Given the description of an element on the screen output the (x, y) to click on. 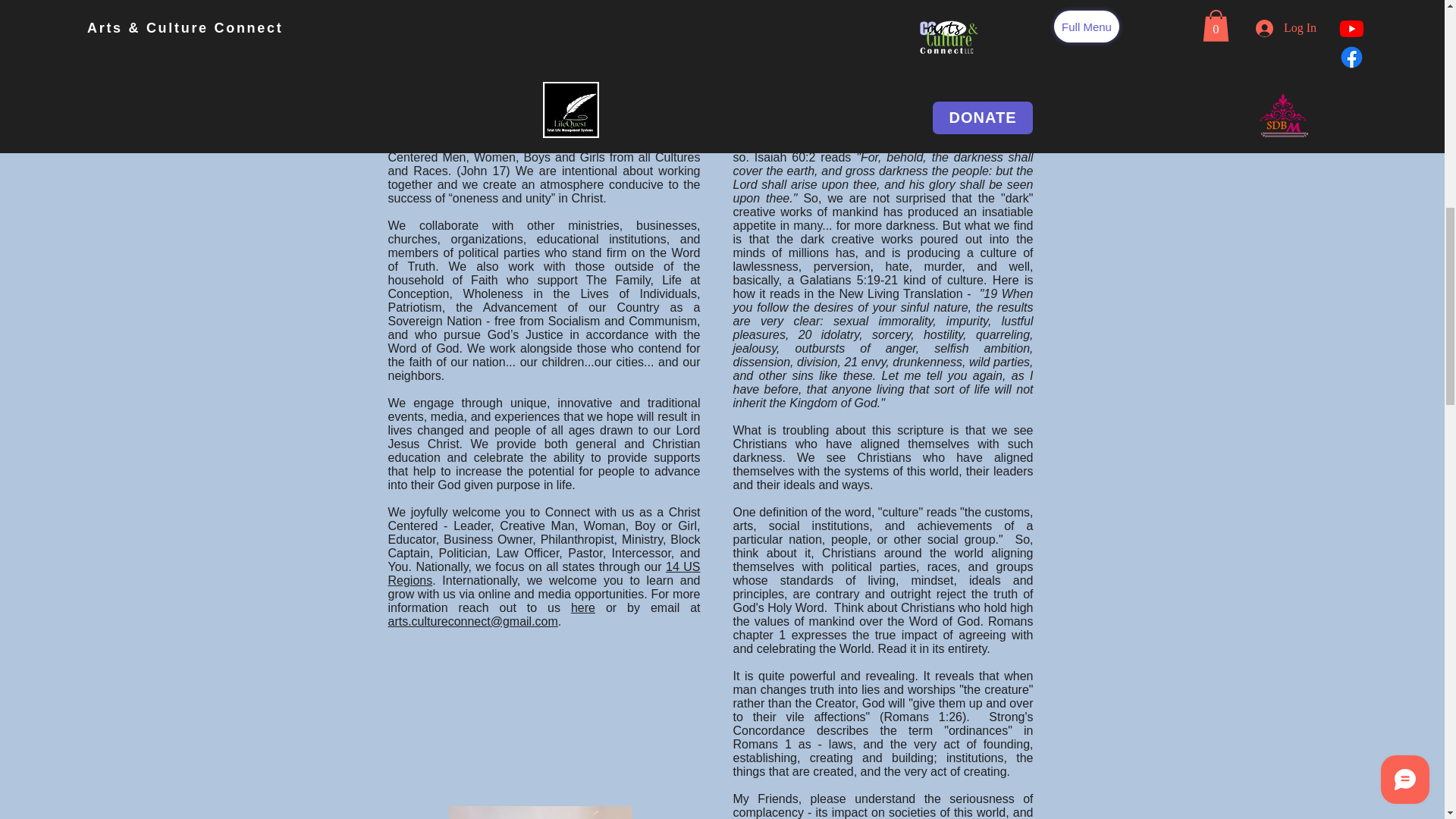
14 US Regions (544, 573)
here (582, 607)
